Given the description of an element on the screen output the (x, y) to click on. 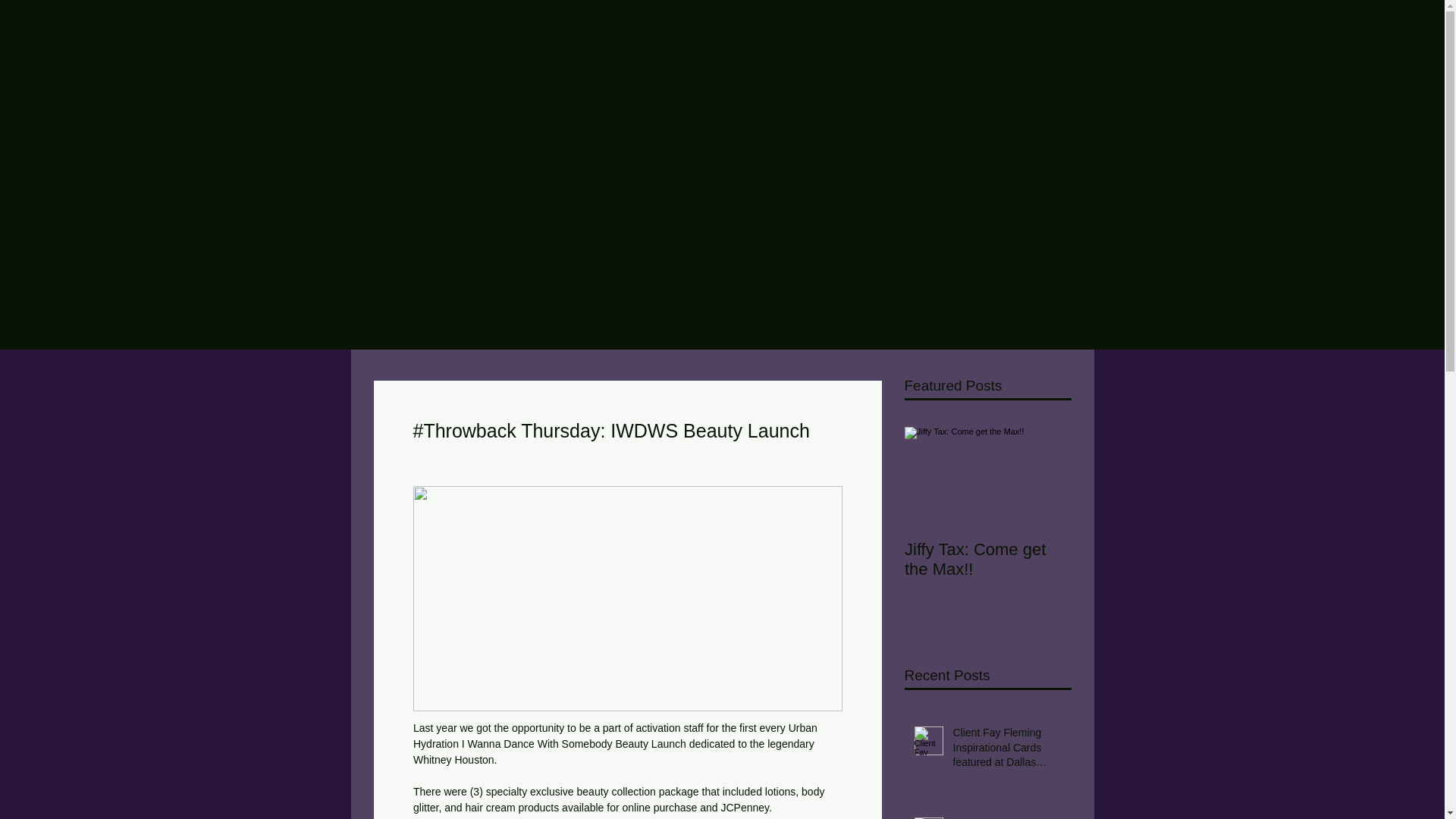
Jiffy Tax: Come get the Max!! (987, 559)
LET THE GOOD TIME ROLL FESTIVAL LINE UP ANNOUCED (1006, 817)
